Given the description of an element on the screen output the (x, y) to click on. 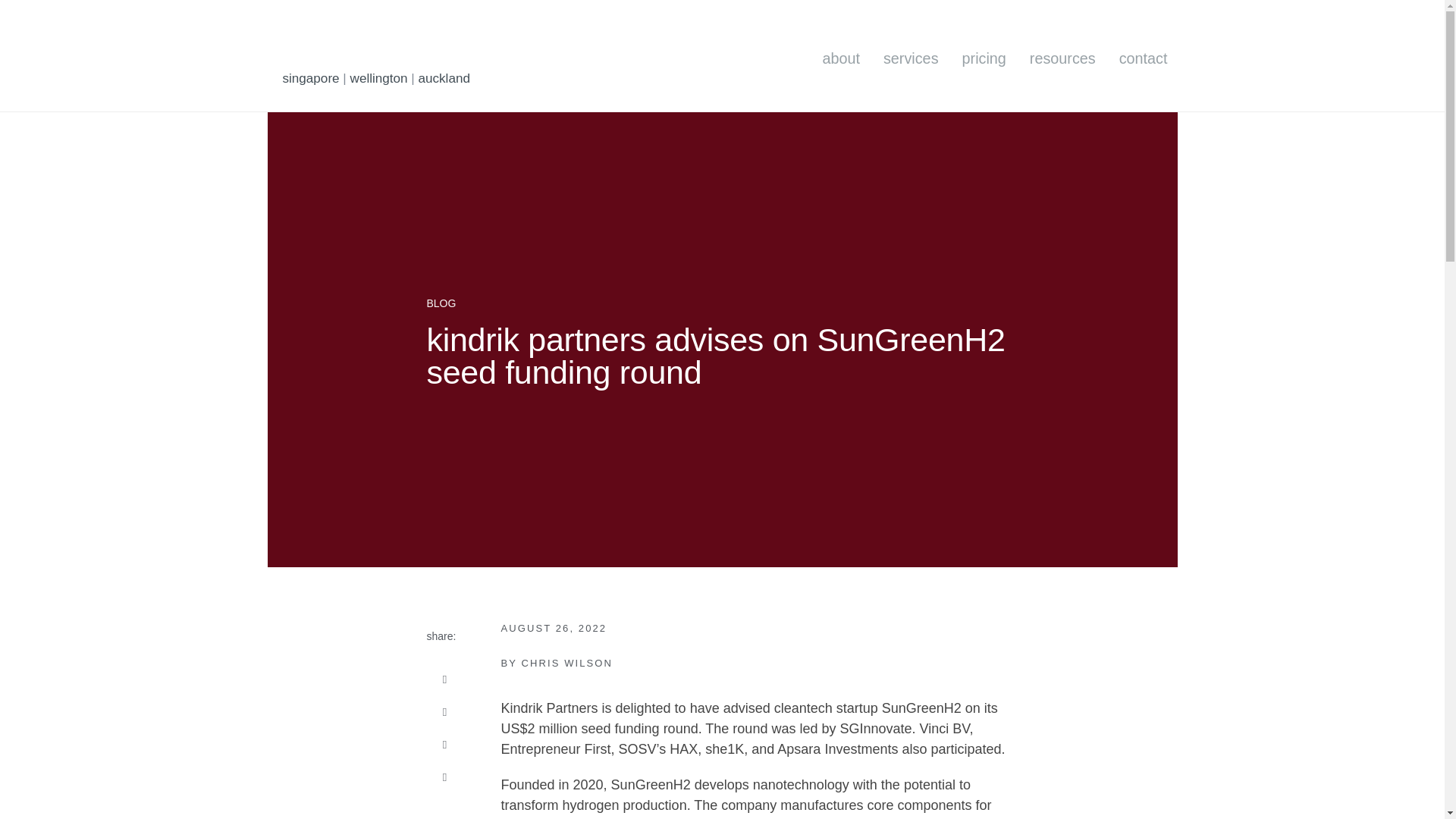
about (840, 59)
pricing (984, 59)
wellington (378, 78)
services (910, 59)
contact (1143, 59)
resources (1062, 59)
kindrik.sg (342, 42)
auckland (444, 78)
BY CHRIS WILSON (556, 663)
singapore (310, 78)
